Given the description of an element on the screen output the (x, y) to click on. 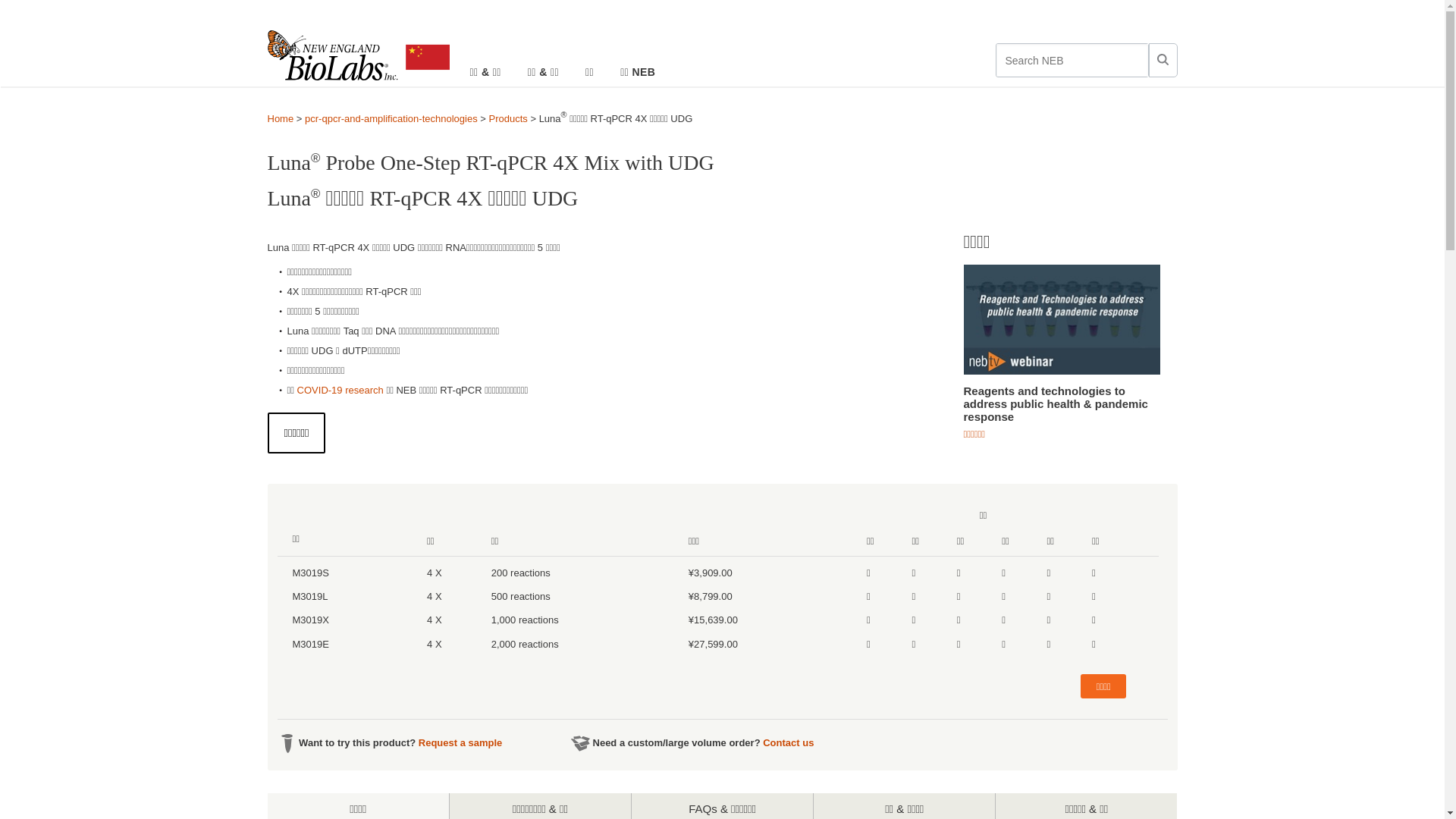
Products Element type: text (507, 117)
Insert a query. Press enter to send Element type: hover (1072, 59)
pcr-qpcr-and-amplification-technologies Element type: text (390, 117)
Request a sample Element type: text (460, 742)
COVID-19 research Element type: text (340, 389)
Home Element type: text (279, 117)
Contact us Element type: text (787, 742)
